Given the description of an element on the screen output the (x, y) to click on. 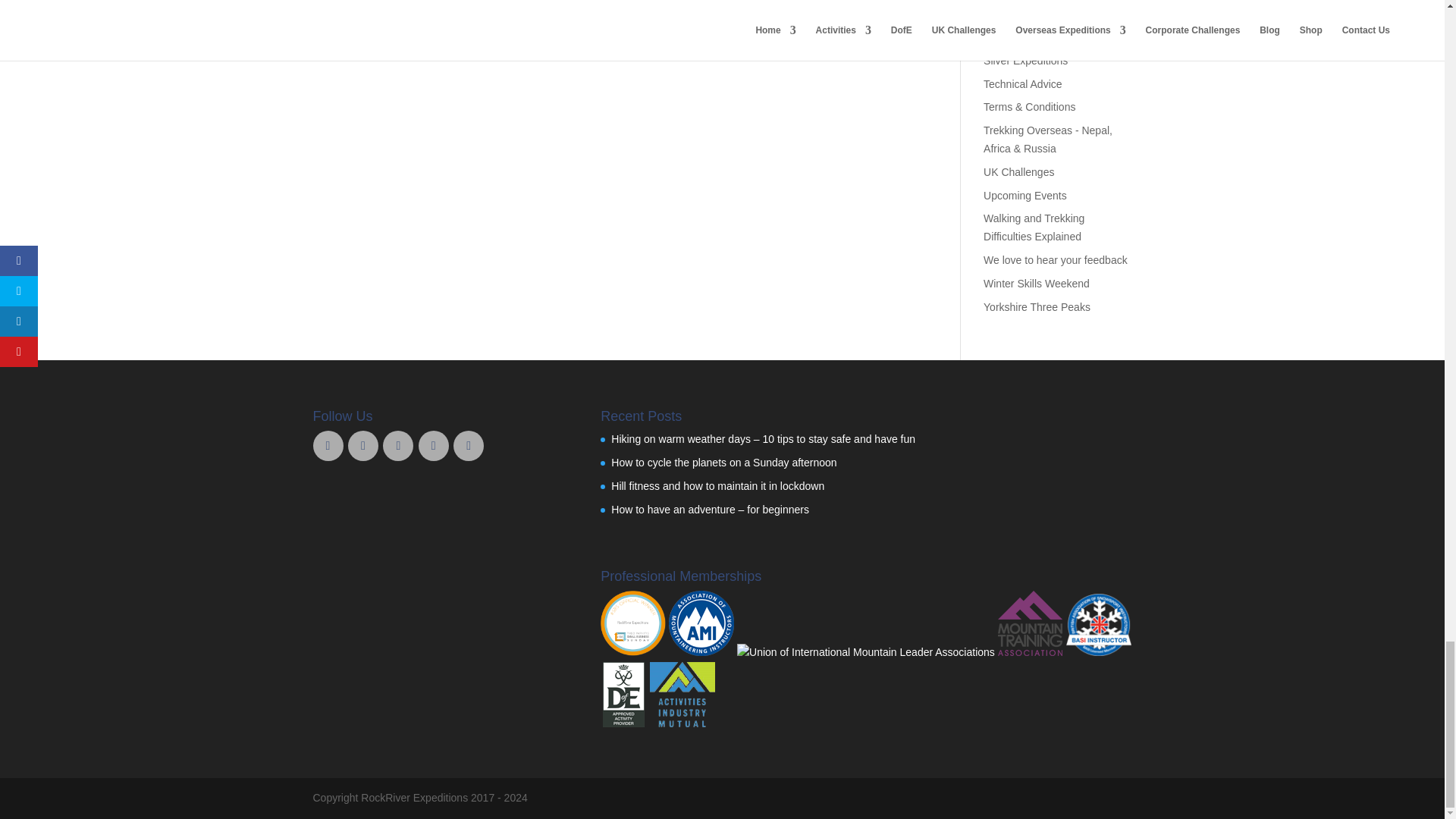
Association of Mountaineering Instructors (700, 652)
Theo Paphitis Small Business Sunday Winner (632, 652)
Mountain Training Association (1029, 652)
BASI Instructor (1098, 652)
Acivities Industry Mutual (681, 723)
Union of International Mountain Leader Associations (865, 652)
DofE Approved Activity Provider (622, 723)
